Given the description of an element on the screen output the (x, y) to click on. 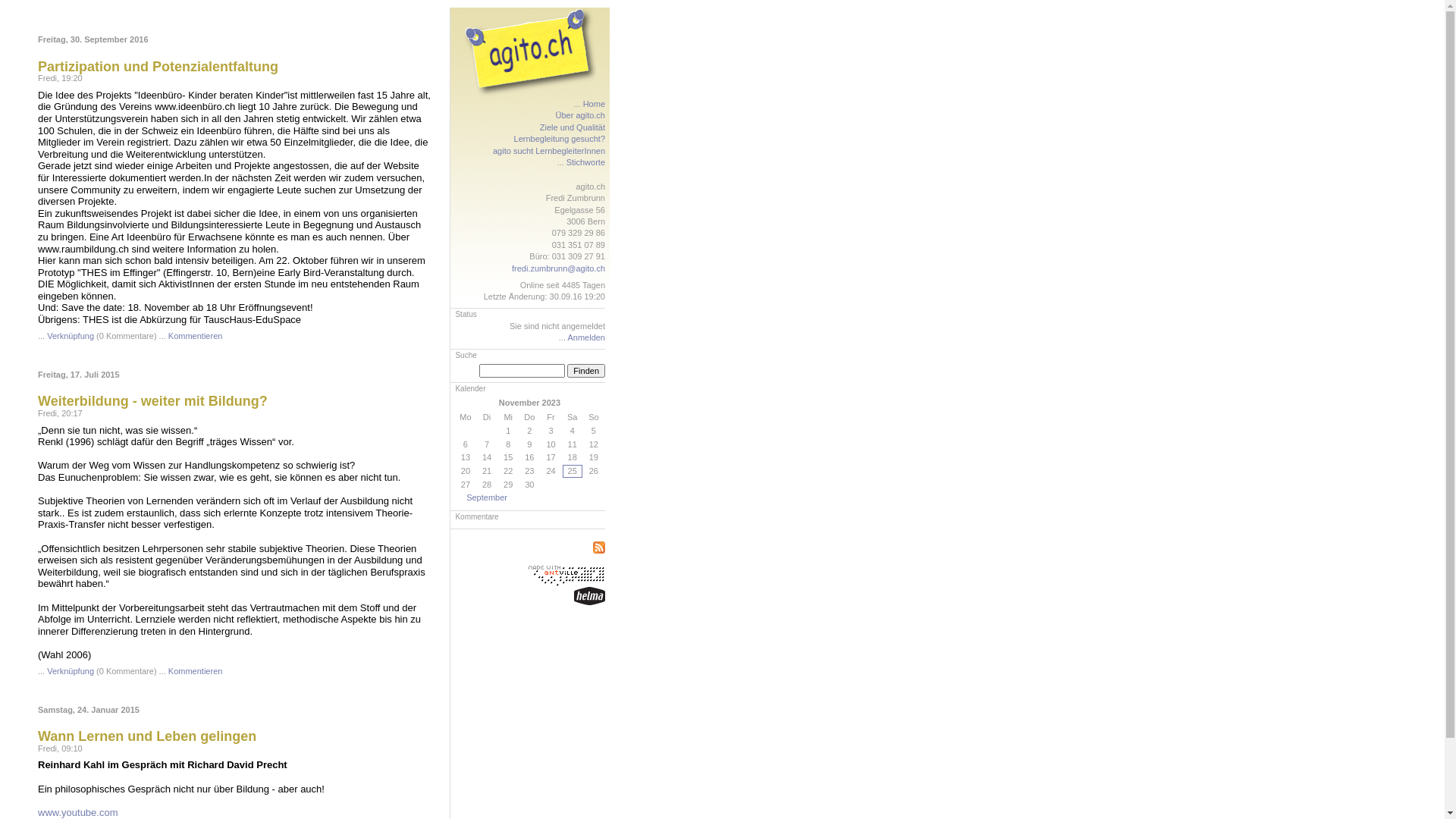
Kommentieren Element type: text (195, 669)
agito sucht LernbegleiterInnen Element type: text (548, 150)
RSS feed Element type: hover (599, 547)
fredi.zumbrunn@agito.ch Element type: text (558, 268)
Finden Element type: text (586, 370)
September Element type: text (486, 497)
www.youtube.com Element type: text (77, 812)
Helma Object Publisher Element type: hover (589, 595)
Home Element type: text (594, 103)
Anmelden Element type: text (586, 337)
Lernbegleitung gesucht? Element type: text (559, 138)
Stichworte Element type: text (585, 161)
Made with Antville Element type: hover (564, 575)
Kommentieren Element type: text (195, 335)
